Given the description of an element on the screen output the (x, y) to click on. 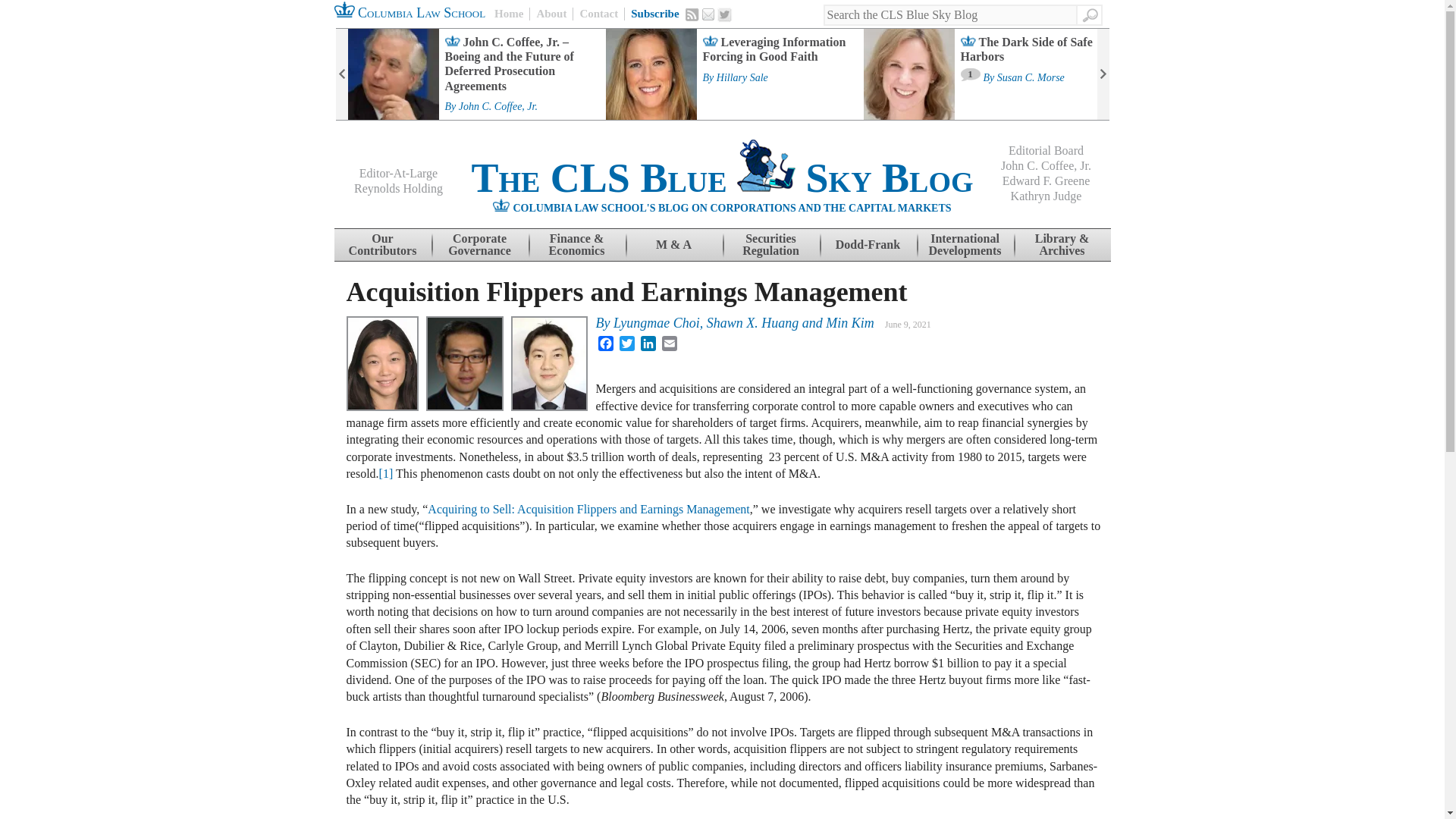
Email (707, 14)
Susan C. Morse (1030, 77)
Search (1089, 14)
Posts by Hillary Sale (742, 77)
Contact (598, 13)
Search (1089, 14)
John C. Coffee, Jr. (497, 106)
Posts by Susan C. Morse (1030, 77)
RSS (691, 14)
Twitter (724, 14)
